Given the description of an element on the screen output the (x, y) to click on. 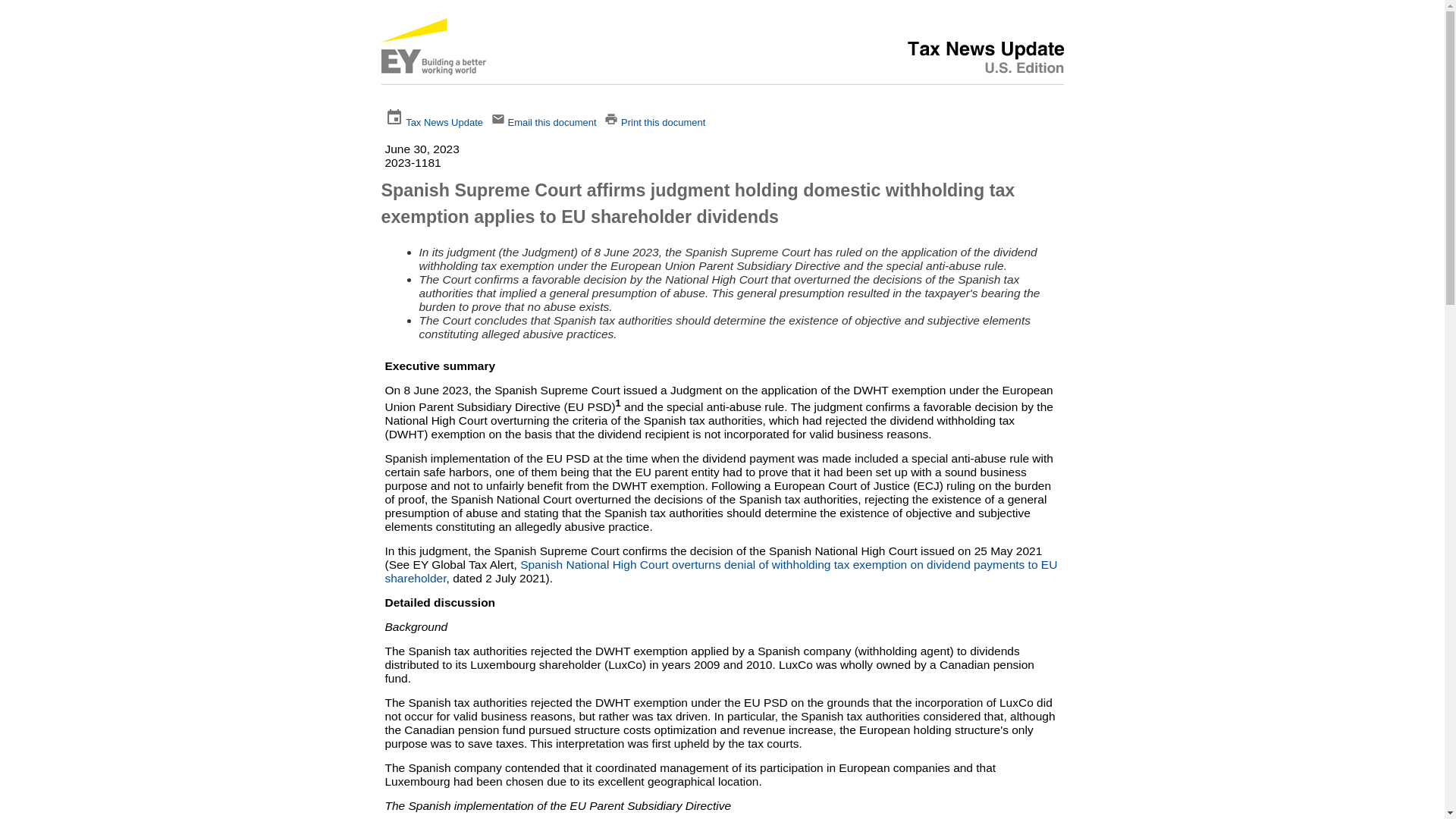
Email this document (550, 122)
Tax News Update (444, 122)
Print this document (662, 122)
